Given the description of an element on the screen output the (x, y) to click on. 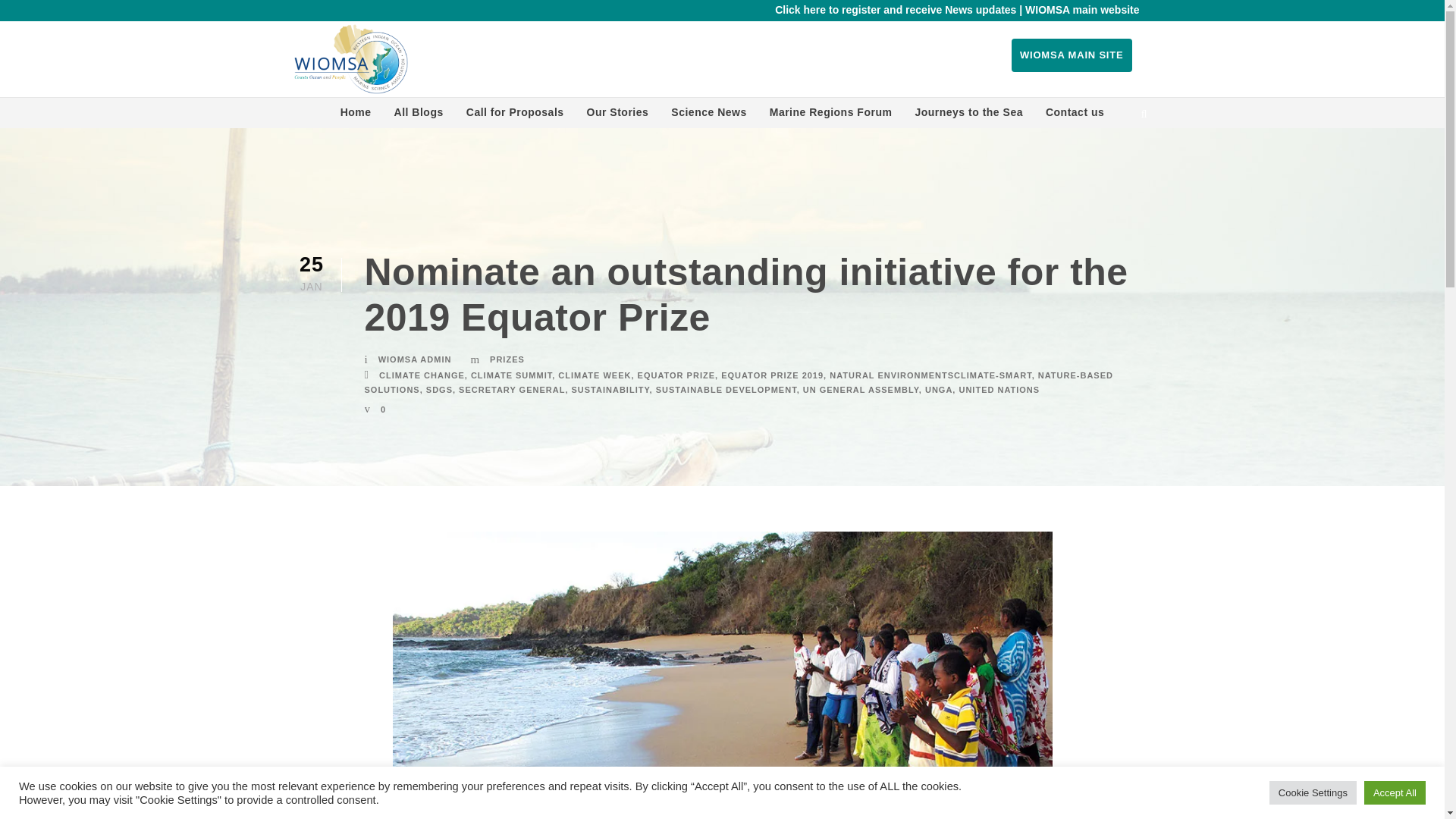
Click here to register and receive News updates (895, 9)
UNGA (938, 388)
Science News (708, 115)
WIOMSA MAIN SITE (1071, 55)
SDGS (439, 388)
PRIZES (506, 358)
CLIMATE CHANGE (421, 375)
Our Stories (617, 115)
CLIMATE SUMMIT (510, 375)
